Given the description of an element on the screen output the (x, y) to click on. 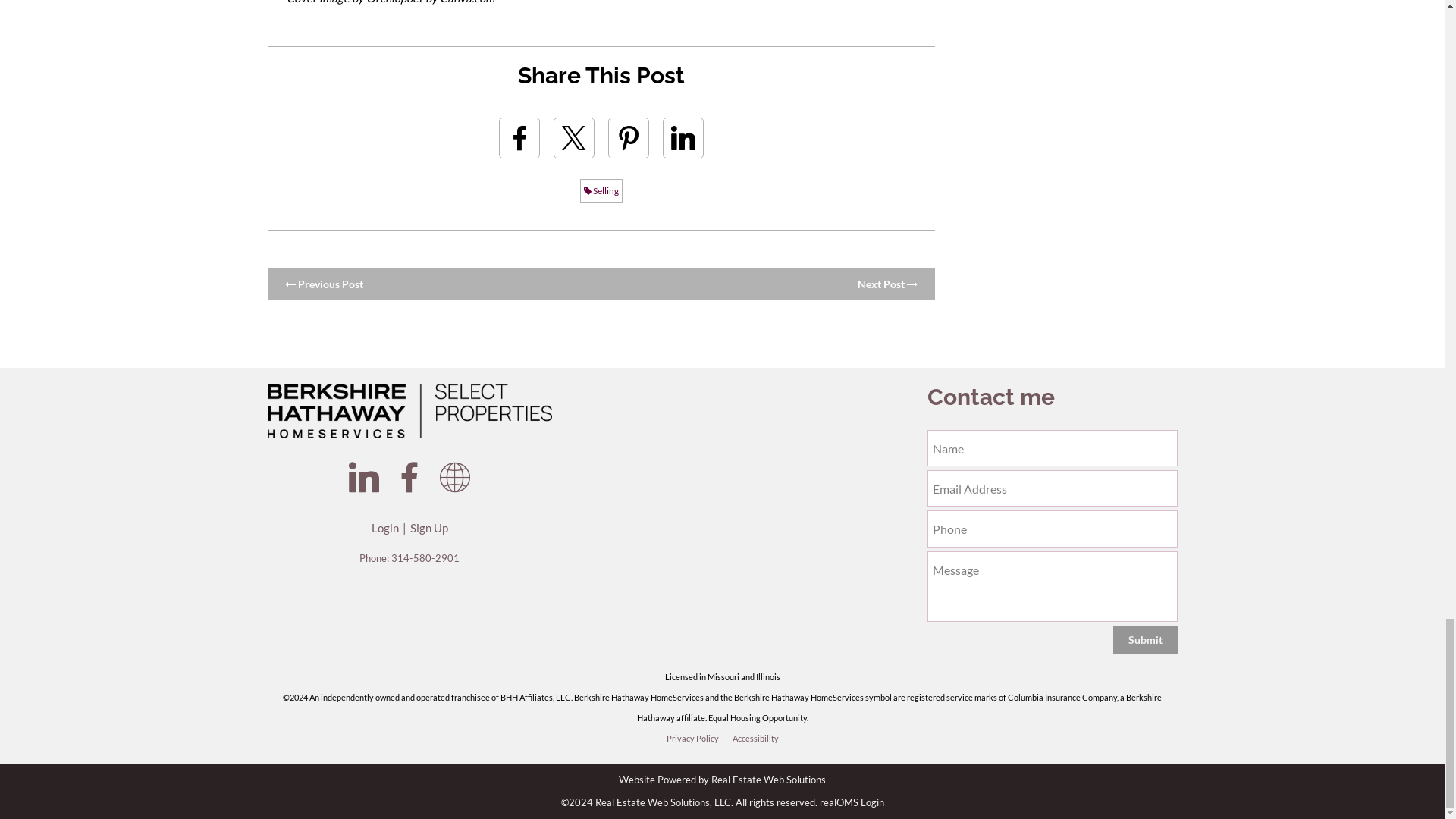
Share on Pinterest (628, 137)
Share on Linked In (682, 137)
Visit me on Facebook (409, 477)
Submit (1145, 639)
Visit me on Website (454, 477)
Share on Facebook (519, 137)
Share on X (573, 137)
Visit me on LinkedIn (363, 477)
